Given the description of an element on the screen output the (x, y) to click on. 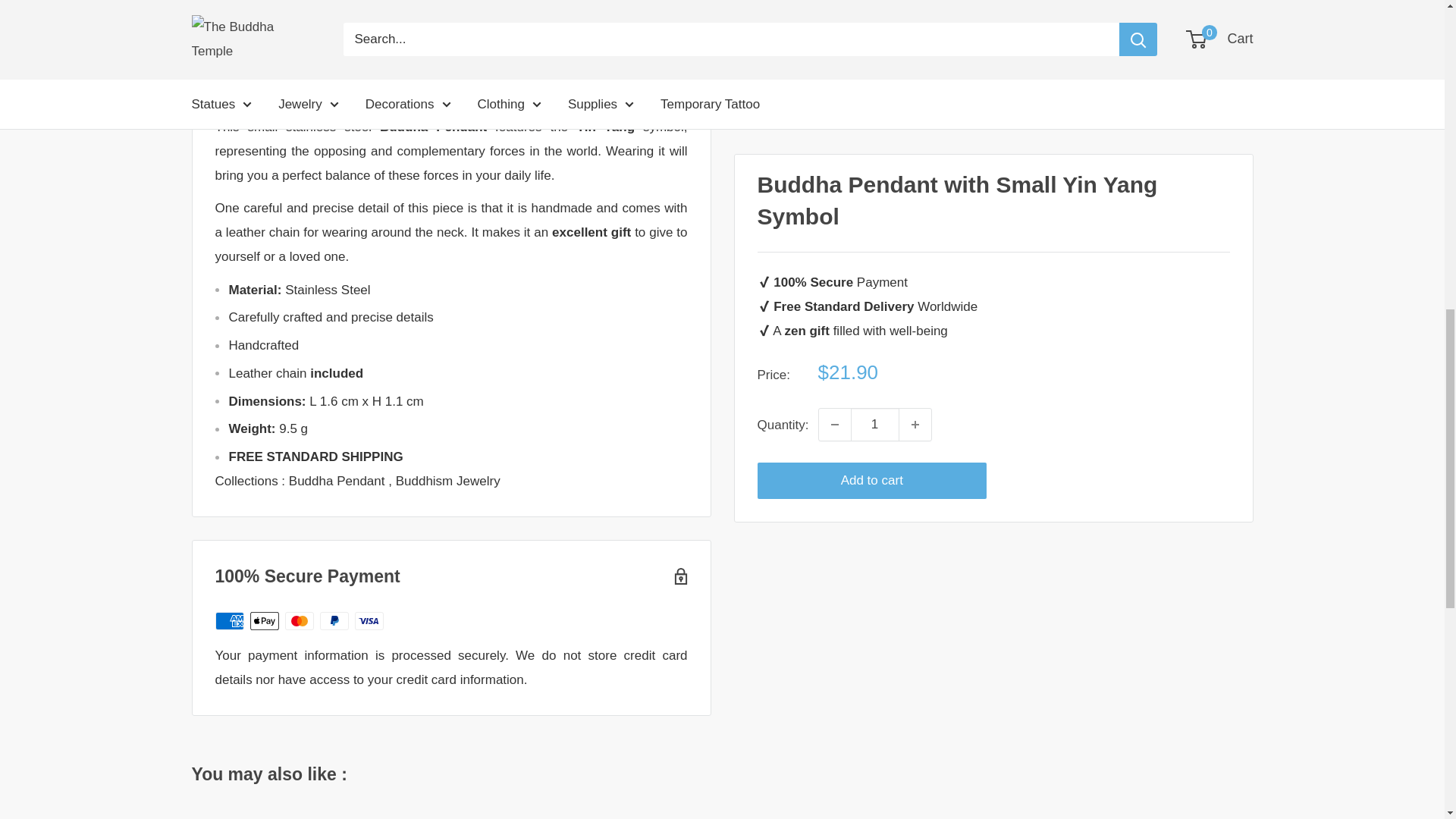
Buddha Pendant (338, 481)
Buddhism Jewelry (448, 481)
